Given the description of an element on the screen output the (x, y) to click on. 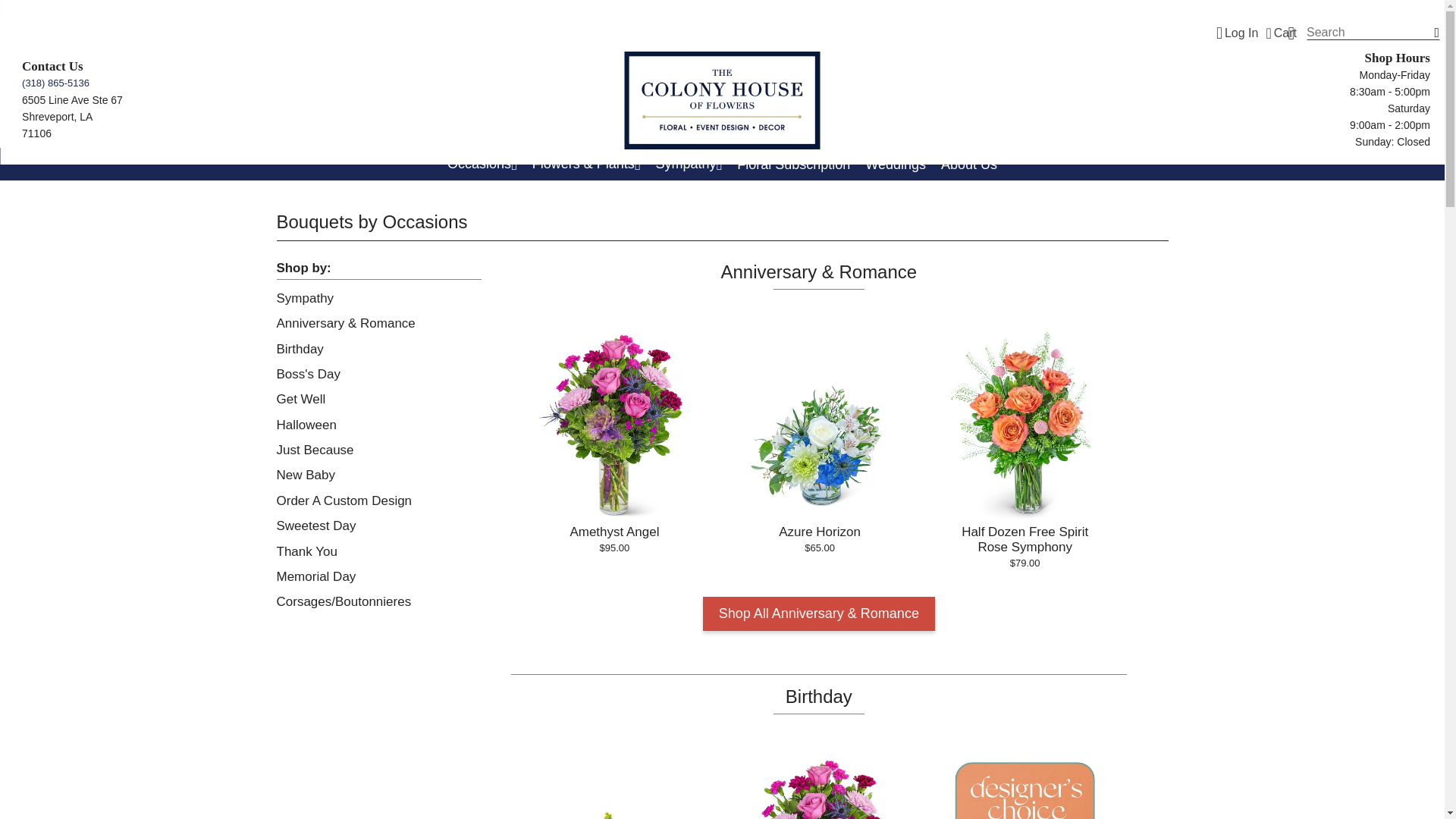
Occasions (481, 164)
Cart (1281, 33)
Search (1372, 32)
Log In (1237, 33)
Go (1427, 35)
log In (1237, 33)
